Given the description of an element on the screen output the (x, y) to click on. 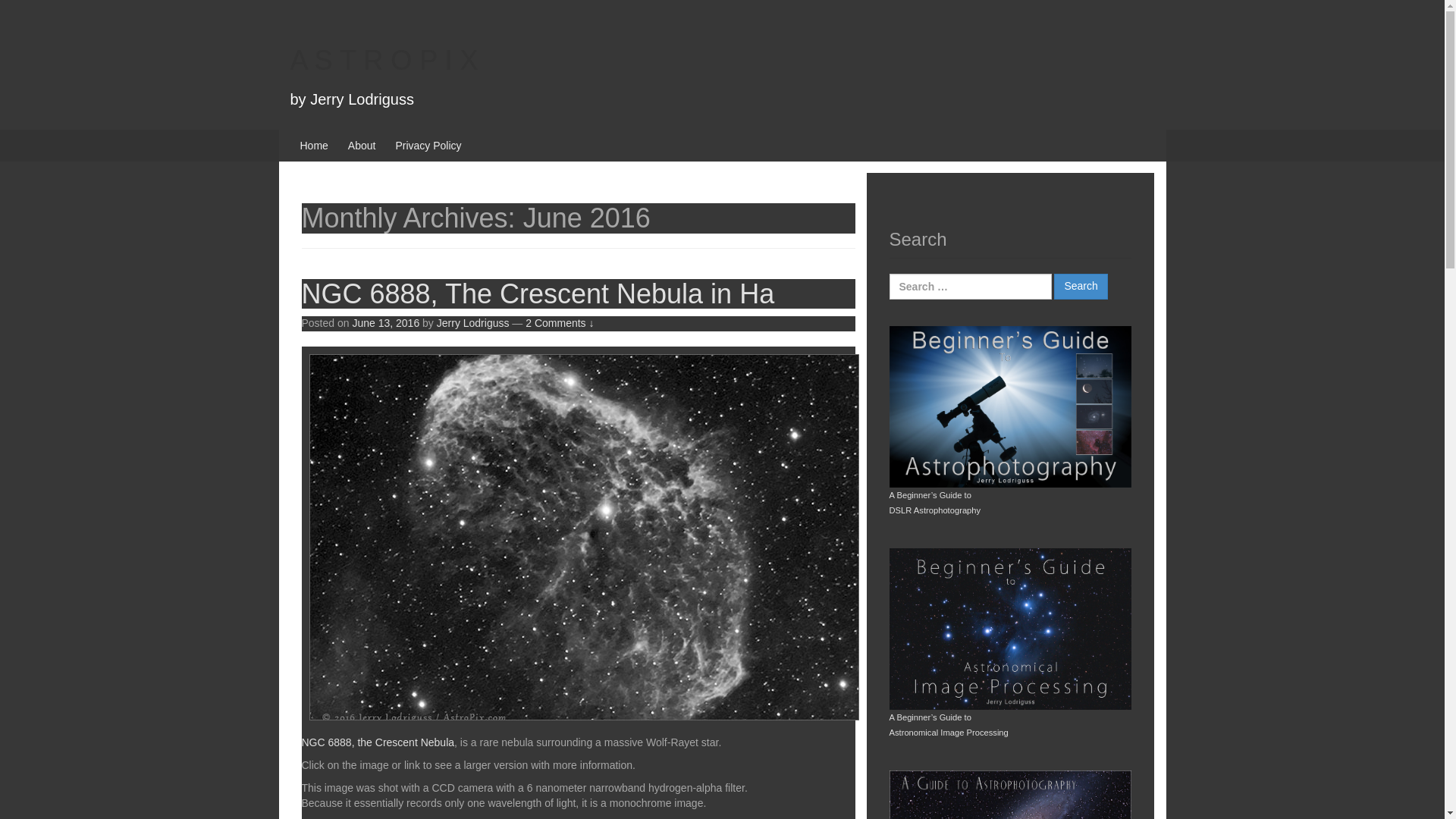
Search (1080, 286)
A S T R O P I X (383, 60)
Home (314, 145)
Privacy Policy (427, 145)
About (361, 145)
Jerry Lodriguss (472, 322)
NGC 6888, The Crescent Nebula in Ha (537, 293)
NGC 6888, the Crescent Nebula (377, 742)
June 13, 2016 (385, 322)
2:08 am (385, 322)
Search (1080, 286)
View all posts by Jerry Lodriguss (472, 322)
